Given the description of an element on the screen output the (x, y) to click on. 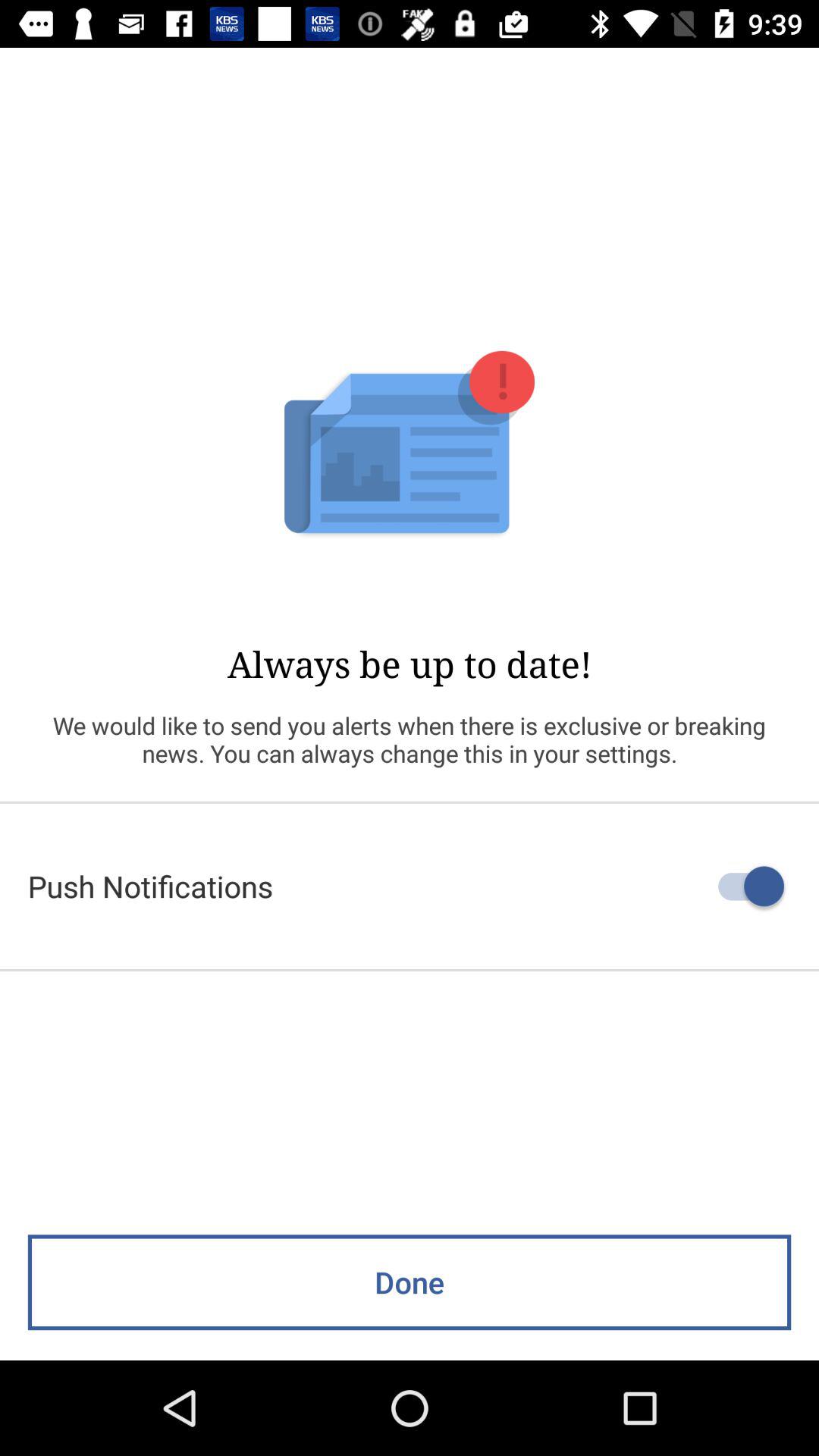
turn off push notifications item (409, 886)
